Given the description of an element on the screen output the (x, y) to click on. 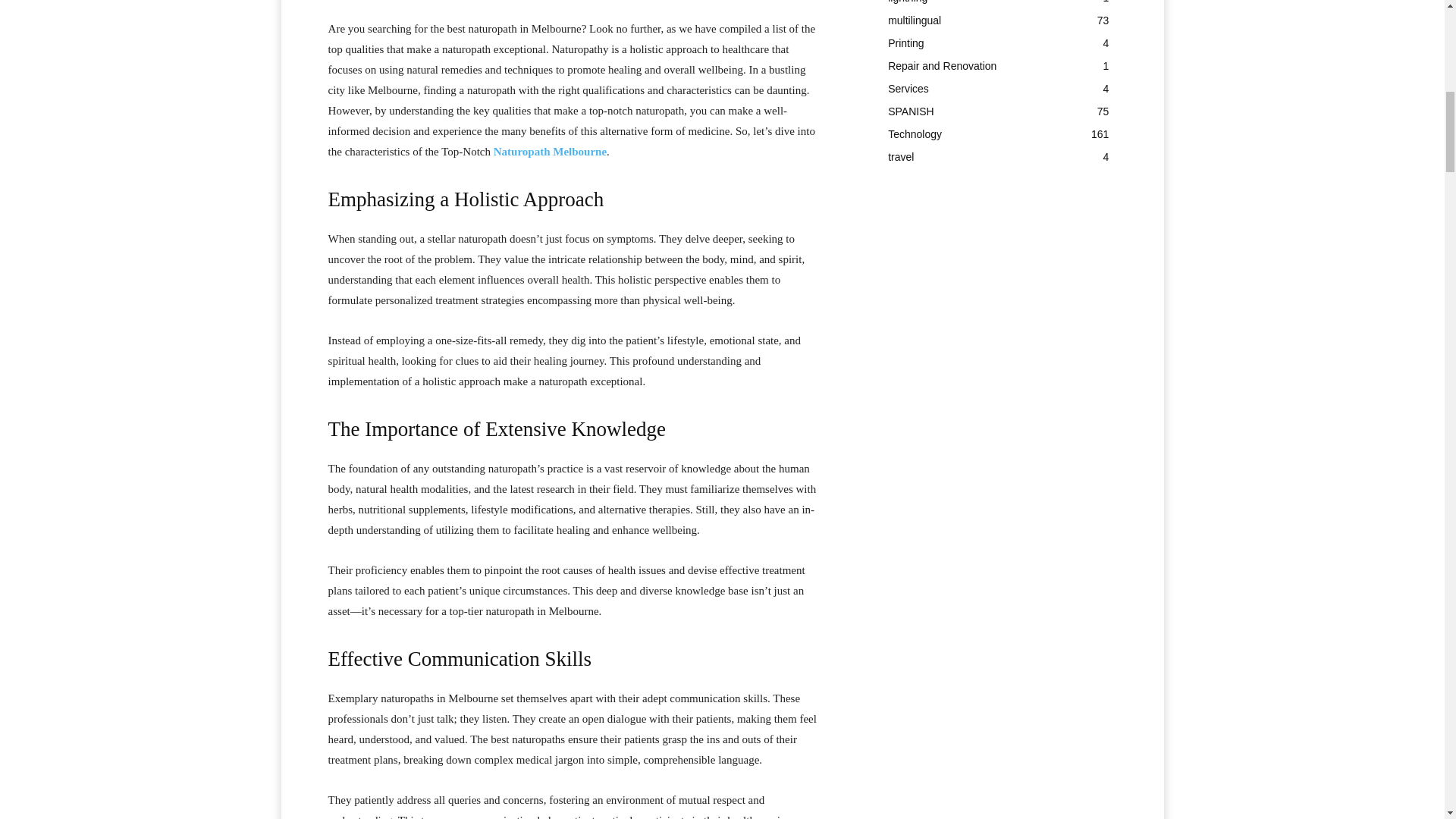
Naturopath Melbourne (550, 151)
